Given the description of an element on the screen output the (x, y) to click on. 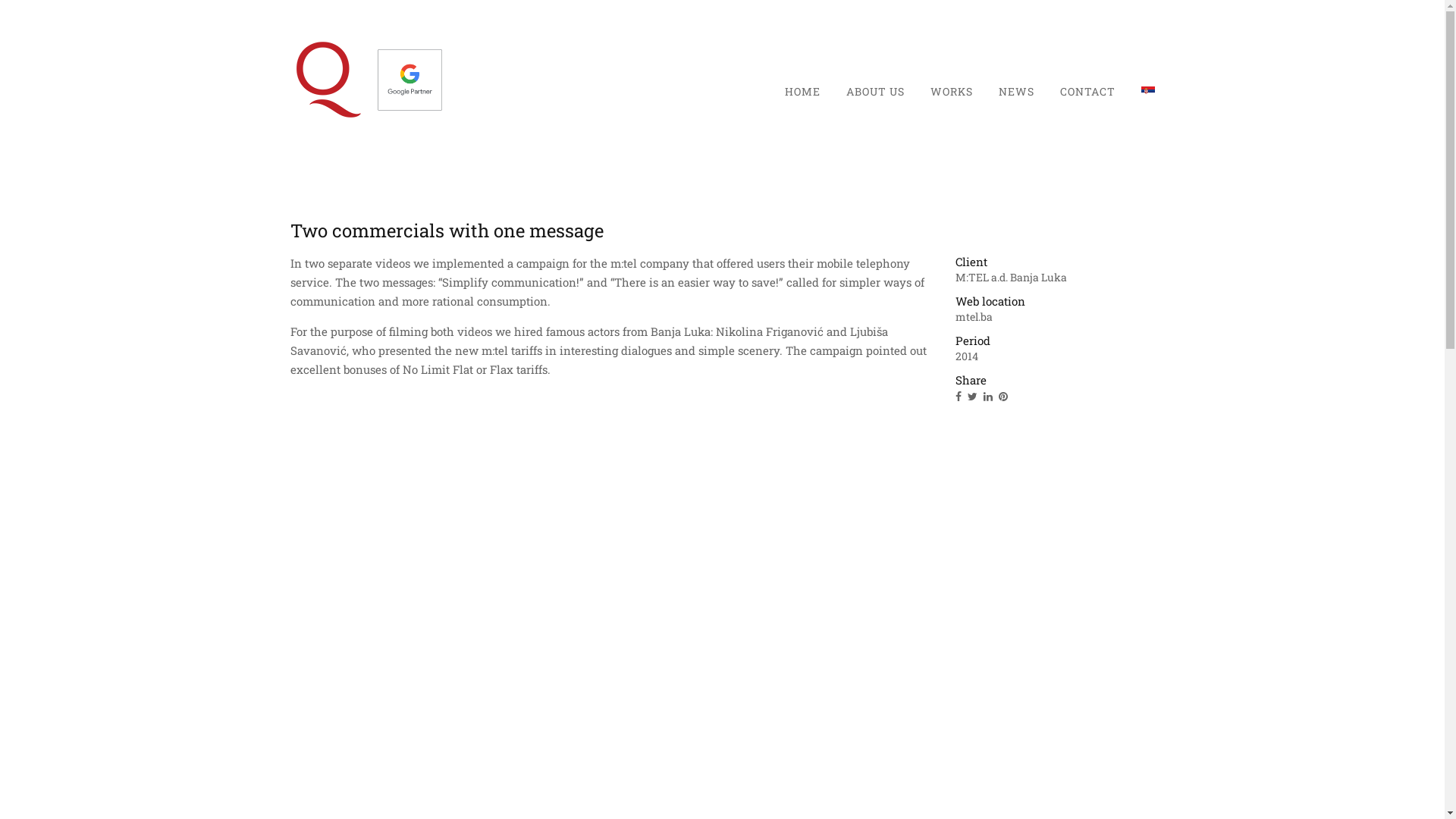
ABOUT US Element type: text (875, 91)
NEWS Element type: text (1015, 91)
mtel.ba Element type: text (973, 316)
HOME Element type: text (801, 91)
CONTACT Element type: text (1087, 91)
WORKS Element type: text (950, 91)
